Given the description of an element on the screen output the (x, y) to click on. 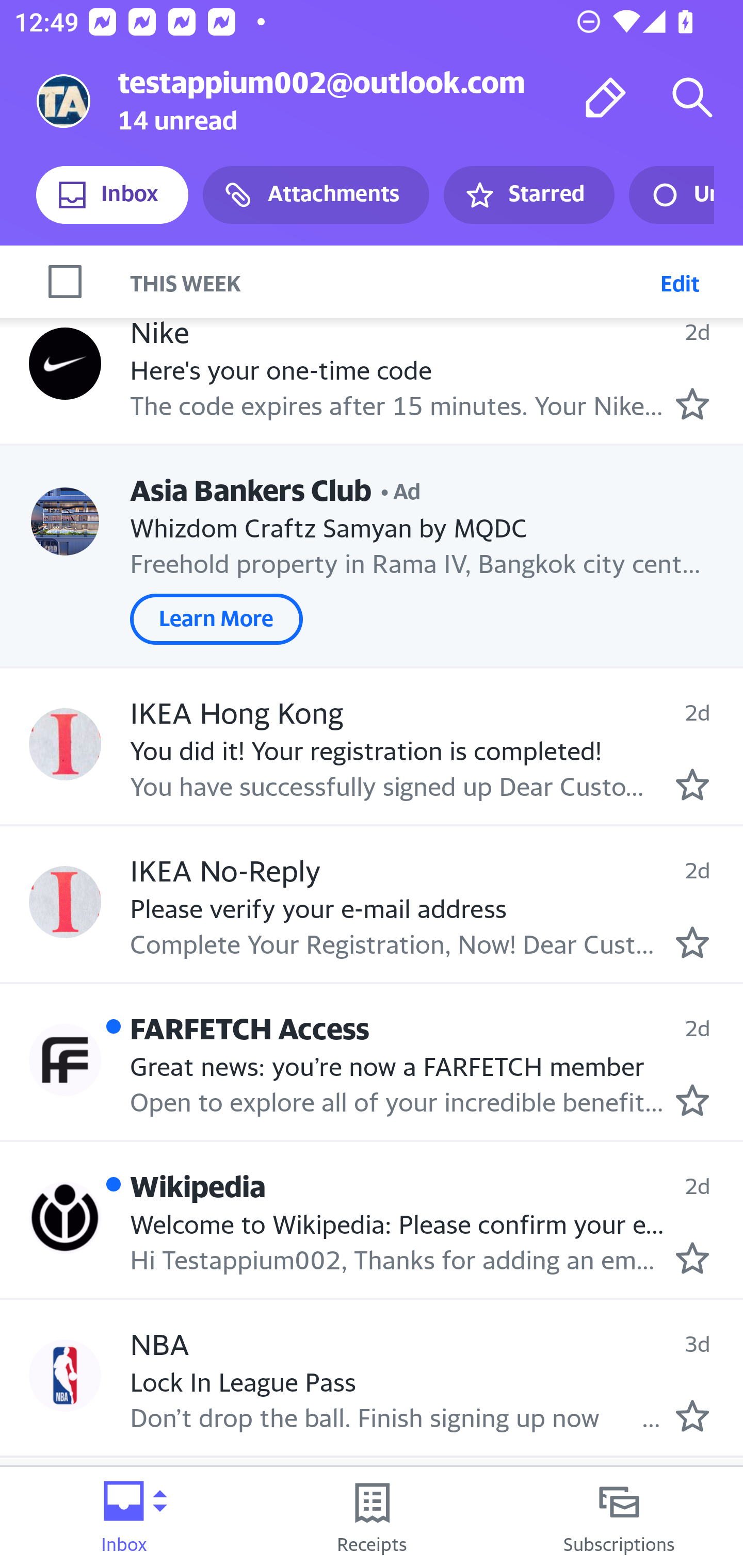
Compose (605, 97)
Search mail (692, 97)
Attachments (315, 195)
Starred (528, 195)
Profile
Nike (64, 363)
Mark as starred. (692, 403)
Profile
IKEA Hong Kong (64, 744)
Mark as starred. (692, 784)
Profile
IKEA No-Reply (64, 901)
Mark as starred. (692, 941)
Profile
FARFETCH Access (64, 1059)
Mark as starred. (692, 1099)
Profile
Wikipedia (64, 1218)
Mark as starred. (692, 1258)
Profile
NBA (64, 1375)
Mark as starred. (692, 1415)
Inbox Folder picker (123, 1517)
Receipts (371, 1517)
Subscriptions (619, 1517)
